Given the description of an element on the screen output the (x, y) to click on. 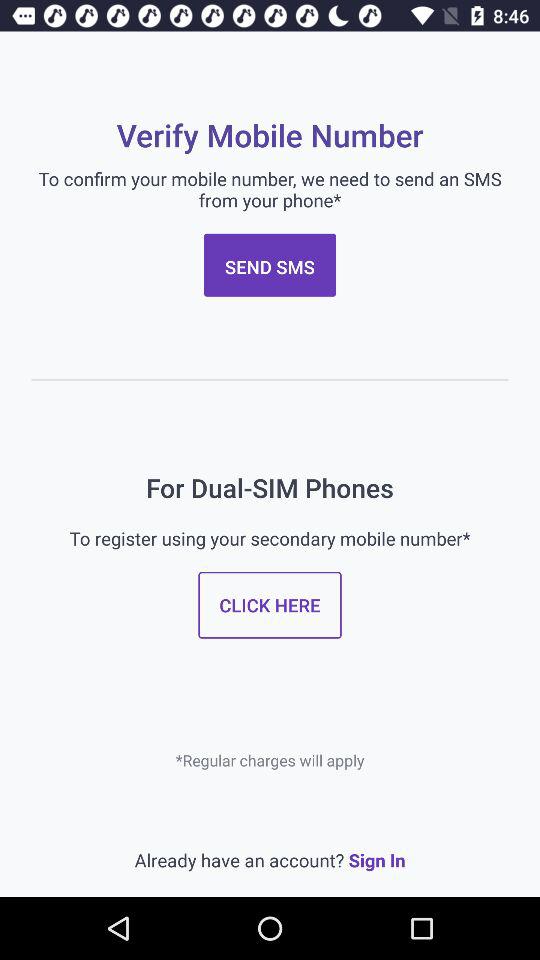
press click here icon (269, 604)
